Given the description of an element on the screen output the (x, y) to click on. 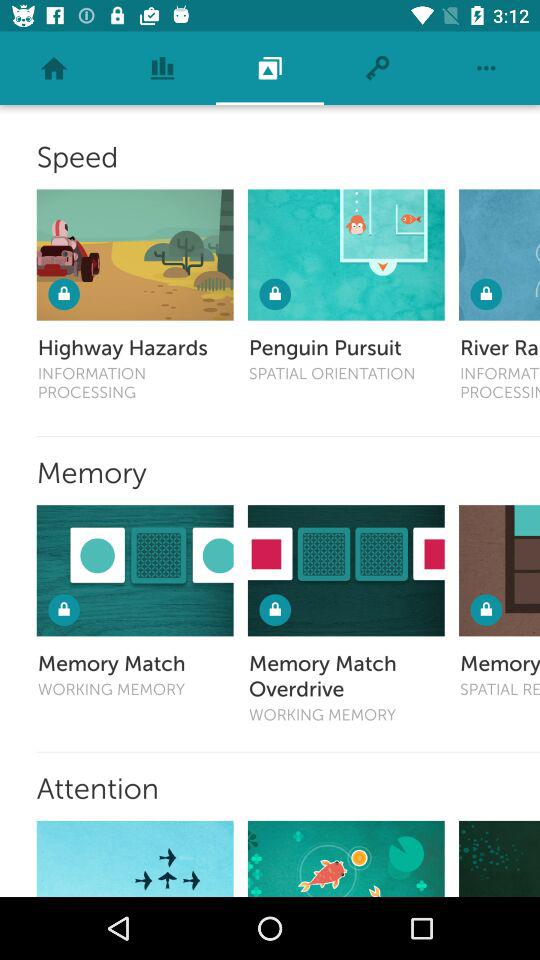
open the class (499, 254)
